Given the description of an element on the screen output the (x, y) to click on. 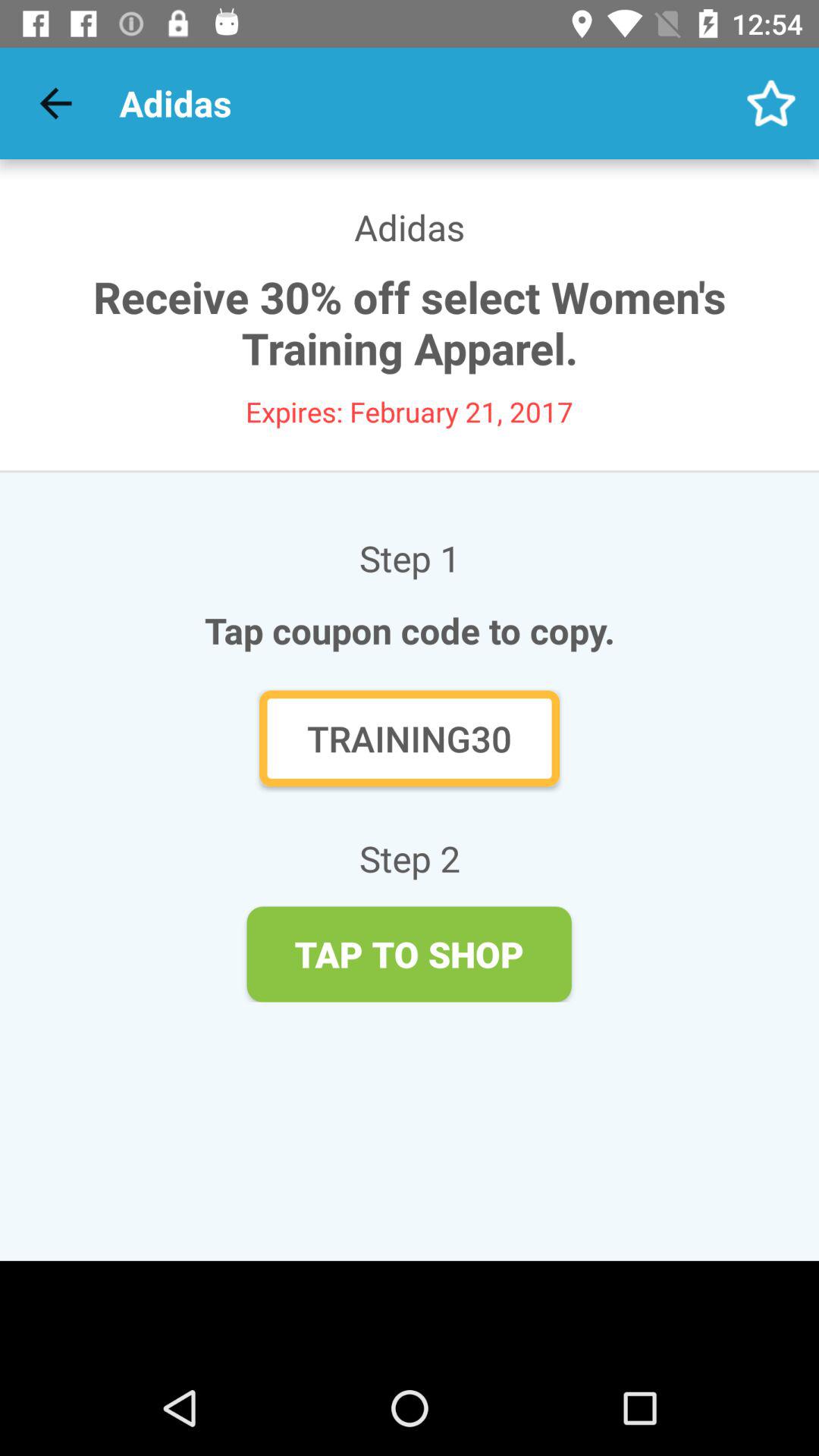
turn off the item above the step 2 icon (409, 738)
